Given the description of an element on the screen output the (x, y) to click on. 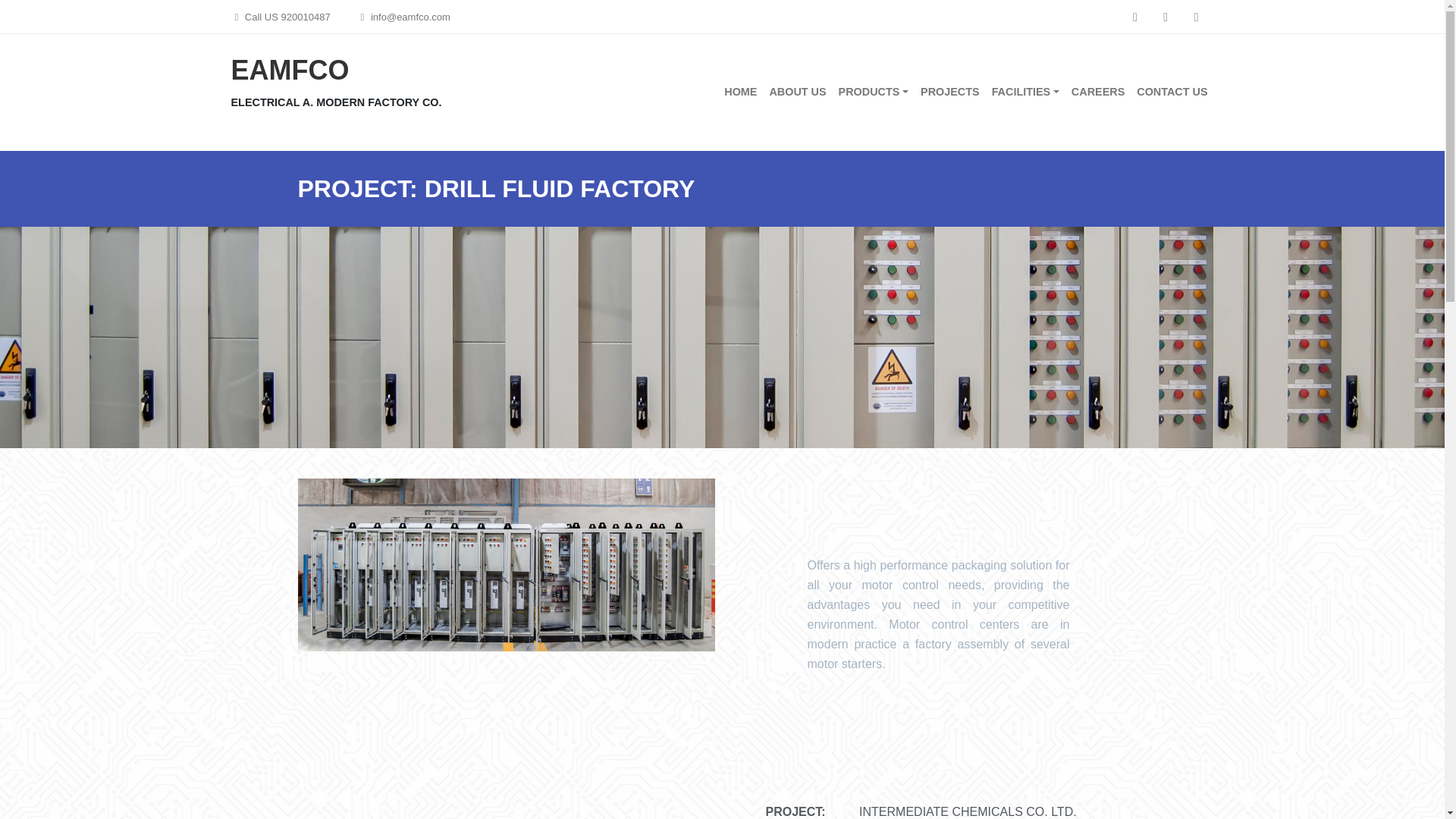
PRODUCTS (873, 92)
facbook (1134, 17)
CAREERS (1098, 92)
ABOUT US (796, 92)
Instagram (1165, 17)
FACILITIES (1025, 92)
HOME (739, 92)
linkedin (1196, 17)
CONTACT US (1171, 92)
EAMFCO (289, 69)
PROJECTS (949, 92)
Call US 920010487 (280, 16)
